Given the description of an element on the screen output the (x, y) to click on. 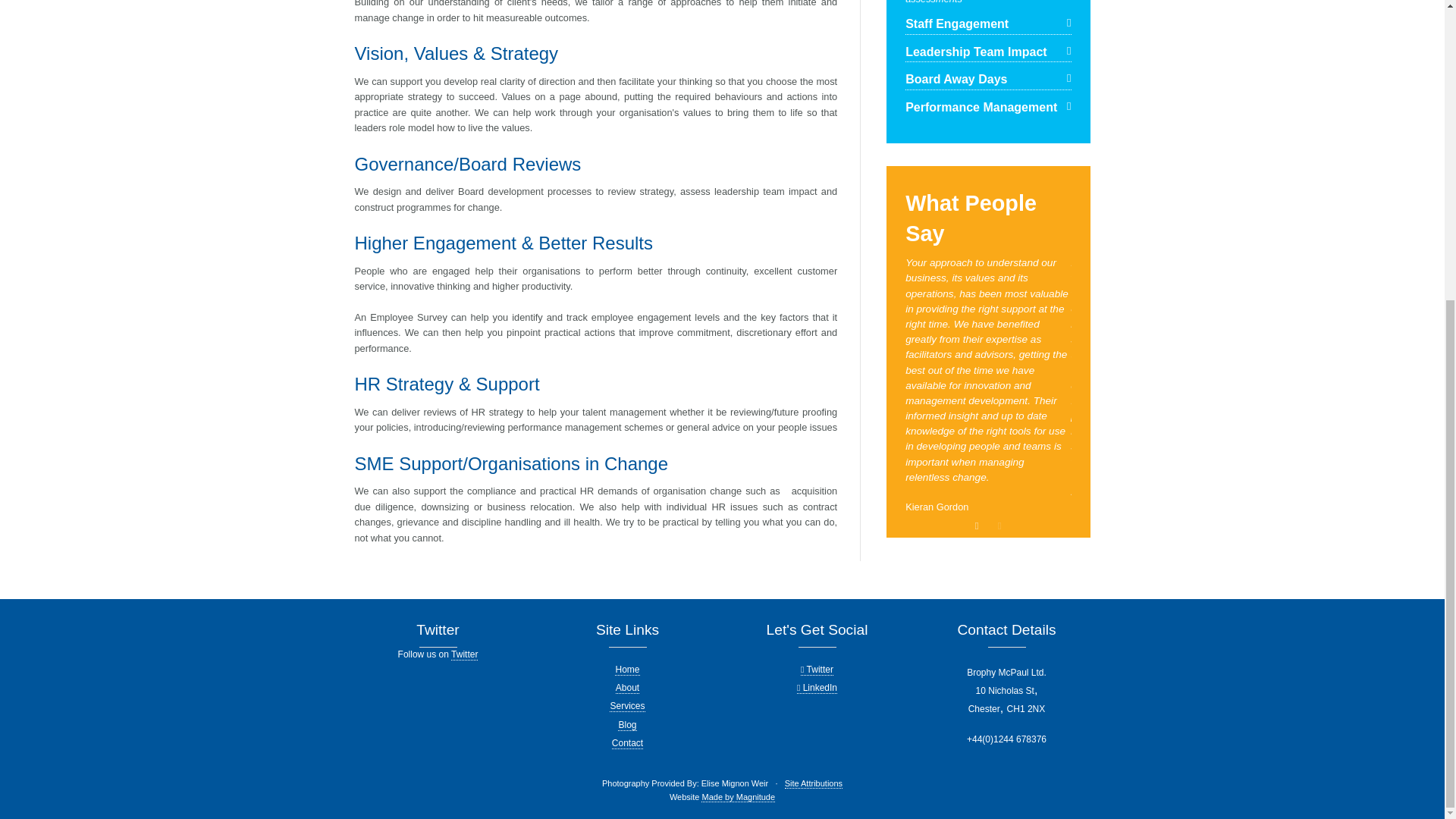
Twitter (464, 654)
Staff Engagement (987, 24)
Leadership Team Impact (987, 52)
Site Attributions (813, 783)
Services (627, 706)
Performance Management (987, 107)
Made by Magnitude (737, 797)
1 (976, 525)
About (627, 687)
LinkedIn (816, 687)
